Given the description of an element on the screen output the (x, y) to click on. 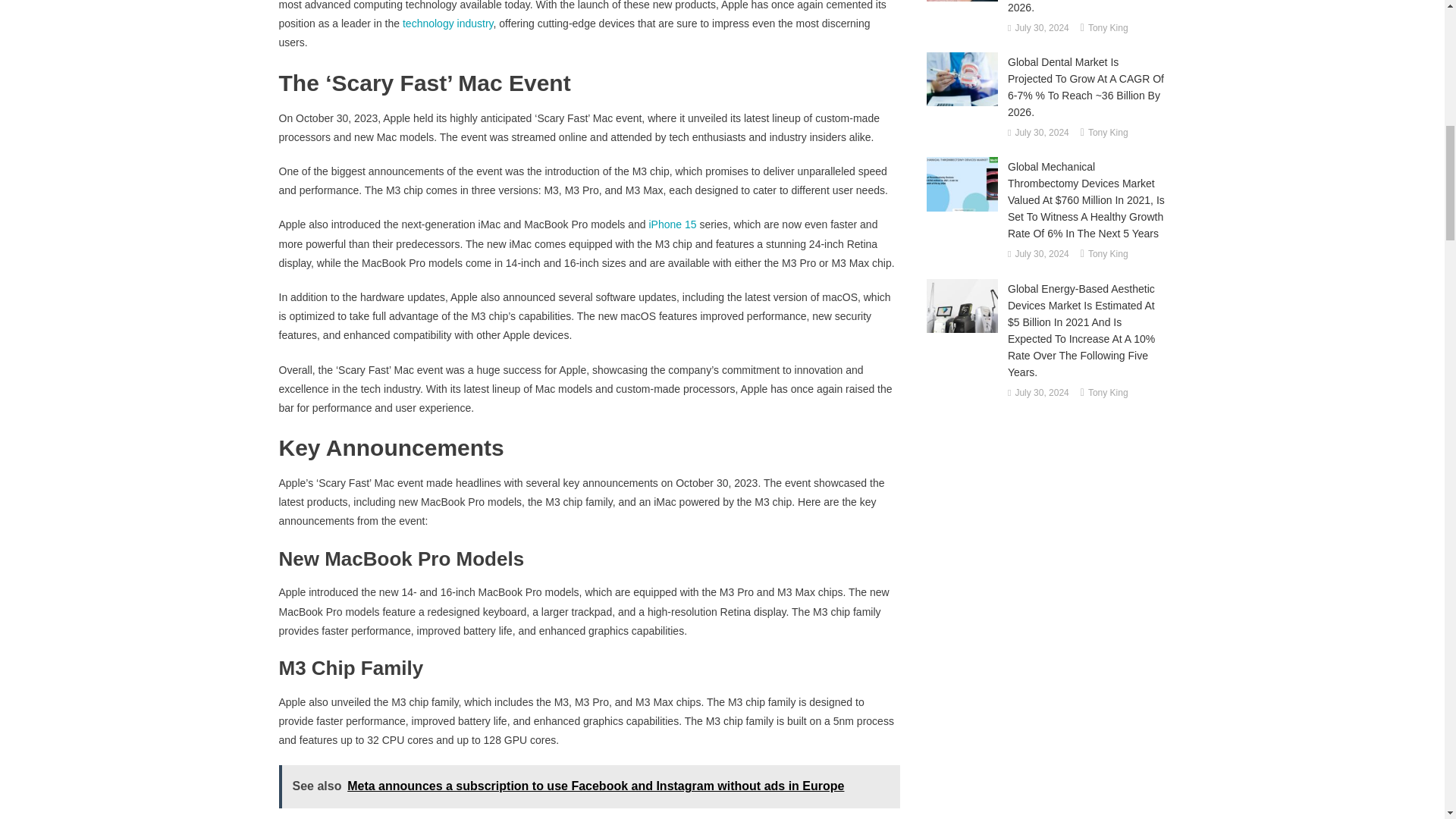
iPhone 15 (671, 224)
technology industry (448, 23)
